Given the description of an element on the screen output the (x, y) to click on. 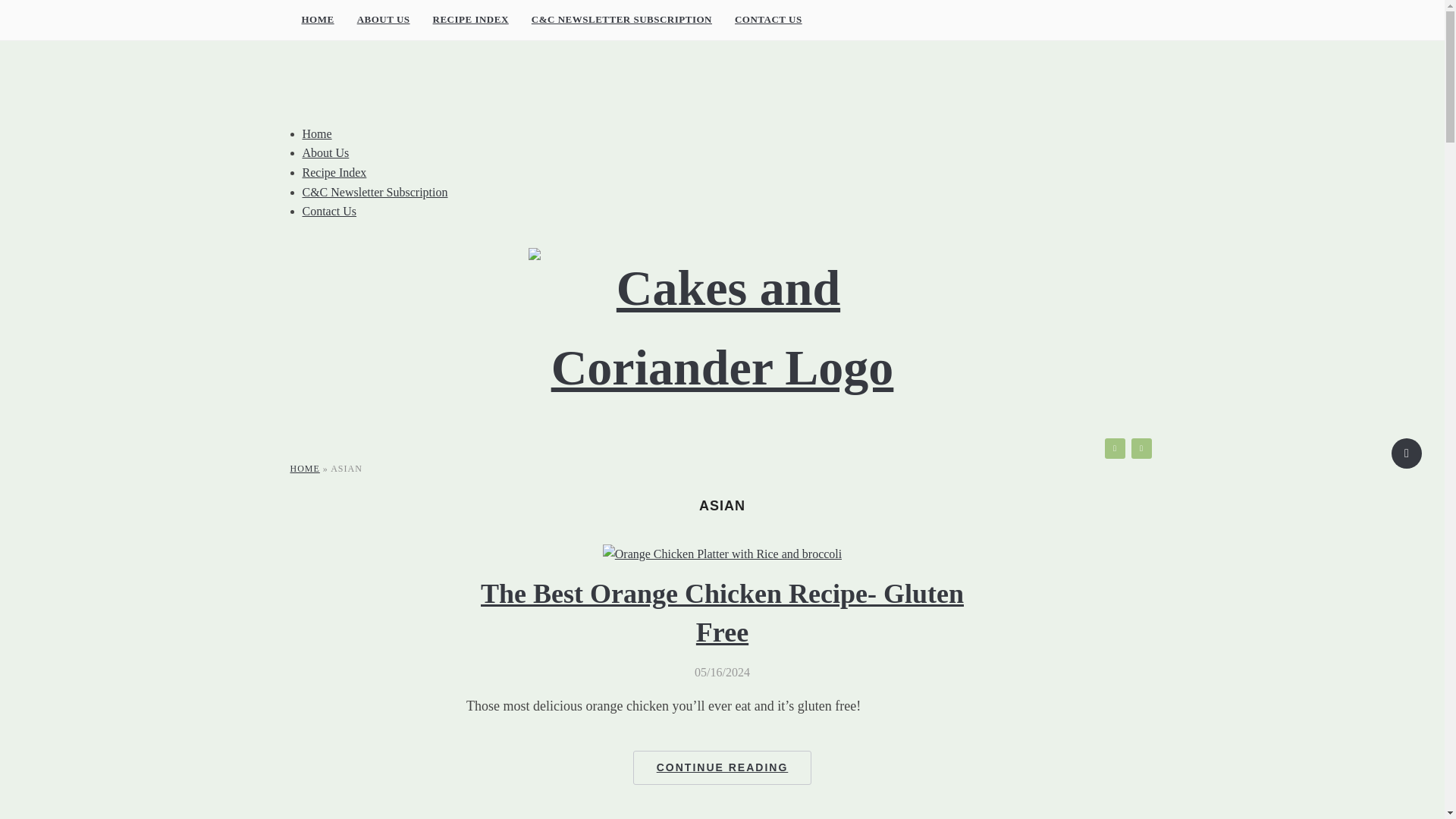
Recipe Index (333, 172)
pinterest (1141, 446)
CONTACT US (768, 20)
HOME (303, 468)
Contact Us (328, 210)
RECIPE INDEX (470, 20)
ABOUT US (384, 20)
instagram (1113, 446)
The Best Orange Chicken Recipe- Gluten Free (721, 612)
Default Label (1141, 446)
Instagram (1113, 446)
About Us (325, 152)
The Best Orange Chicken Recipe- Gluten Free (721, 553)
Search (1406, 453)
HOME (317, 20)
